Given the description of an element on the screen output the (x, y) to click on. 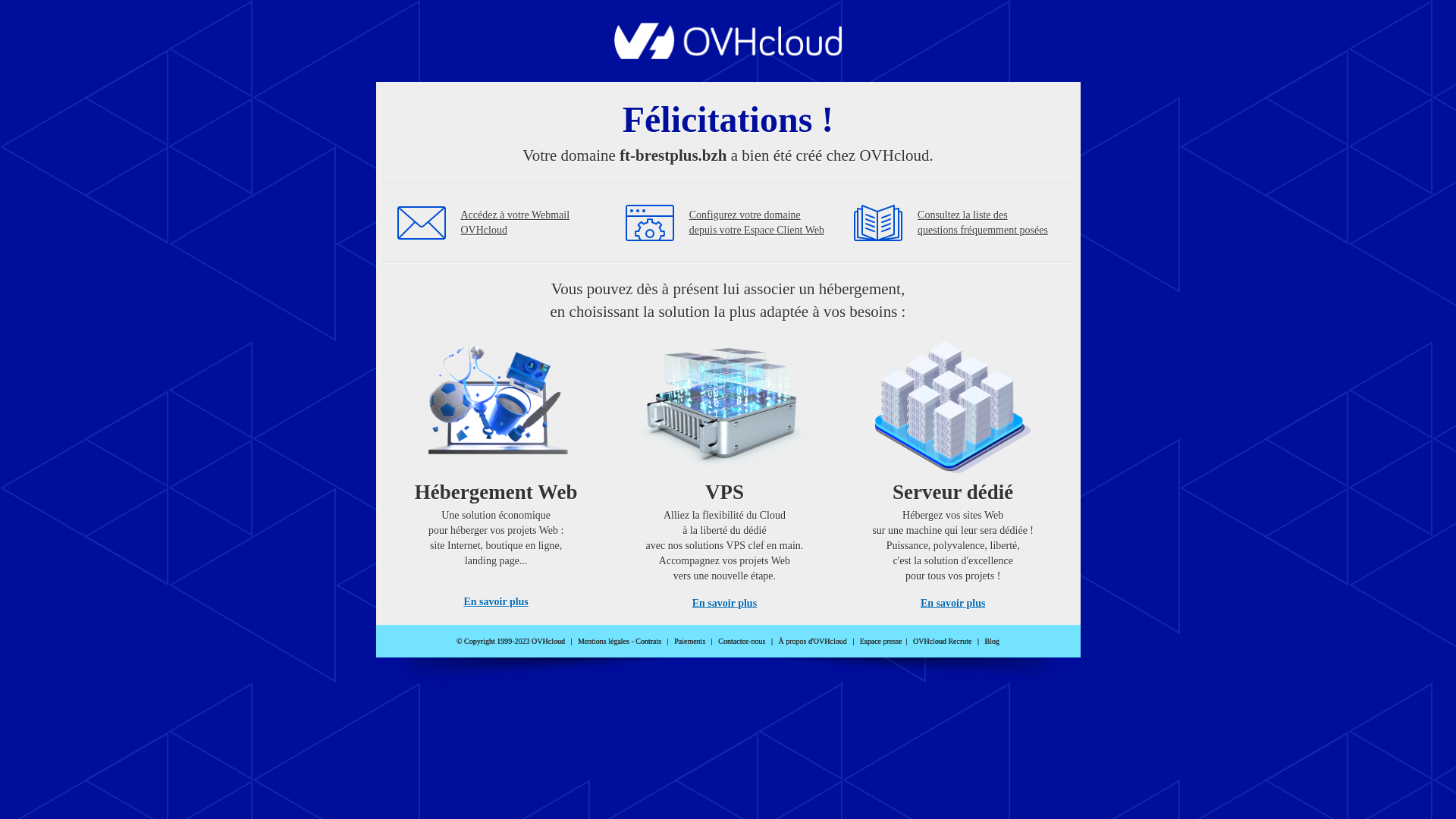
Paiements Element type: text (689, 641)
En savoir plus Element type: text (952, 602)
Espace presse Element type: text (880, 641)
OVHcloud Recrute Element type: text (942, 641)
En savoir plus Element type: text (495, 601)
Contactez-nous Element type: text (741, 641)
Blog Element type: text (992, 641)
En savoir plus Element type: text (724, 602)
Configurez votre domaine
depuis votre Espace Client Web Element type: text (756, 222)
OVHcloud Element type: hover (727, 54)
VPS Element type: hover (724, 469)
